Given the description of an element on the screen output the (x, y) to click on. 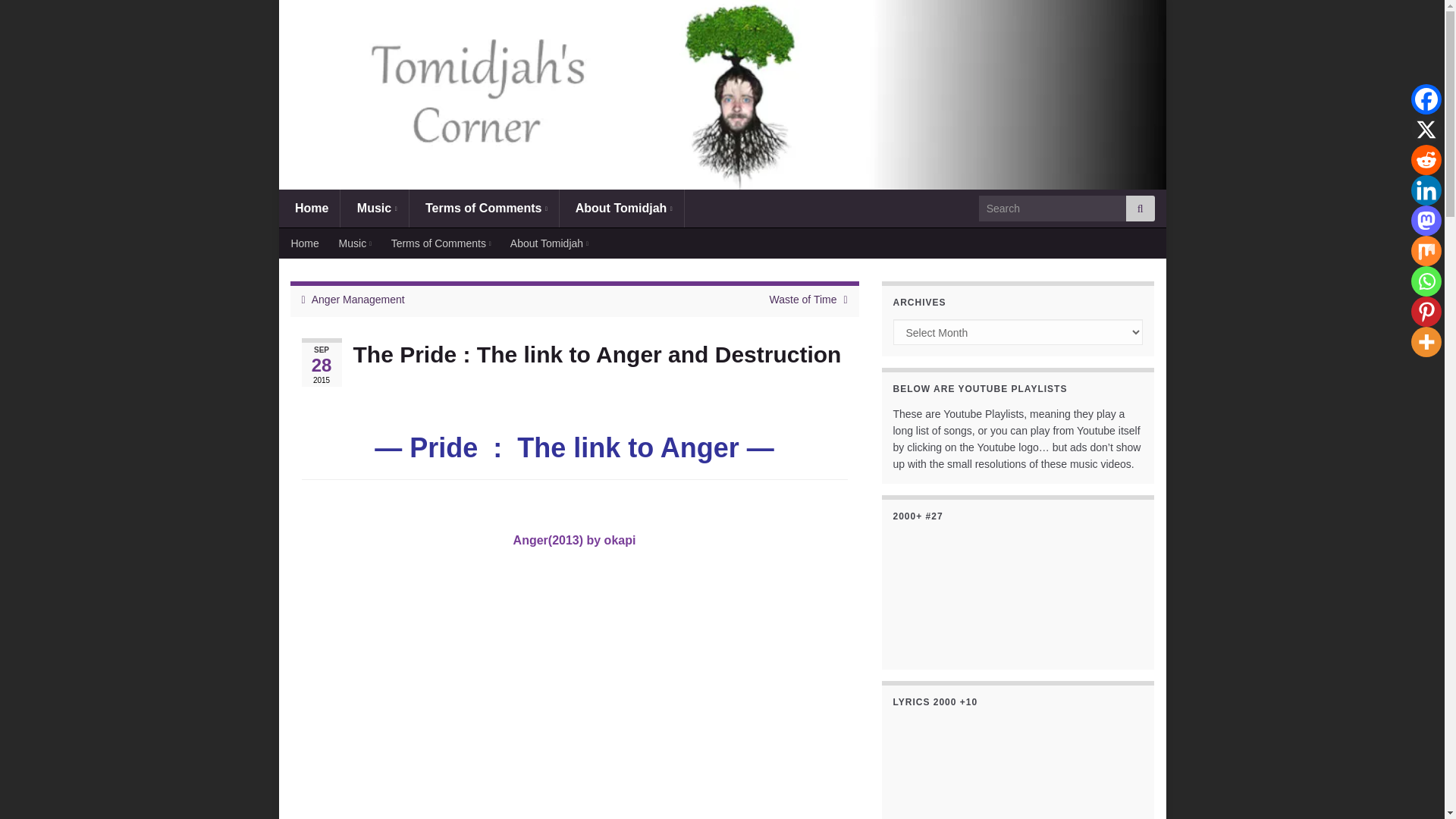
Music (373, 208)
YouTube player (573, 692)
Home (309, 208)
Terms of Comments (484, 208)
About Tomidjah (621, 208)
Facebook (1425, 99)
